Given the description of an element on the screen output the (x, y) to click on. 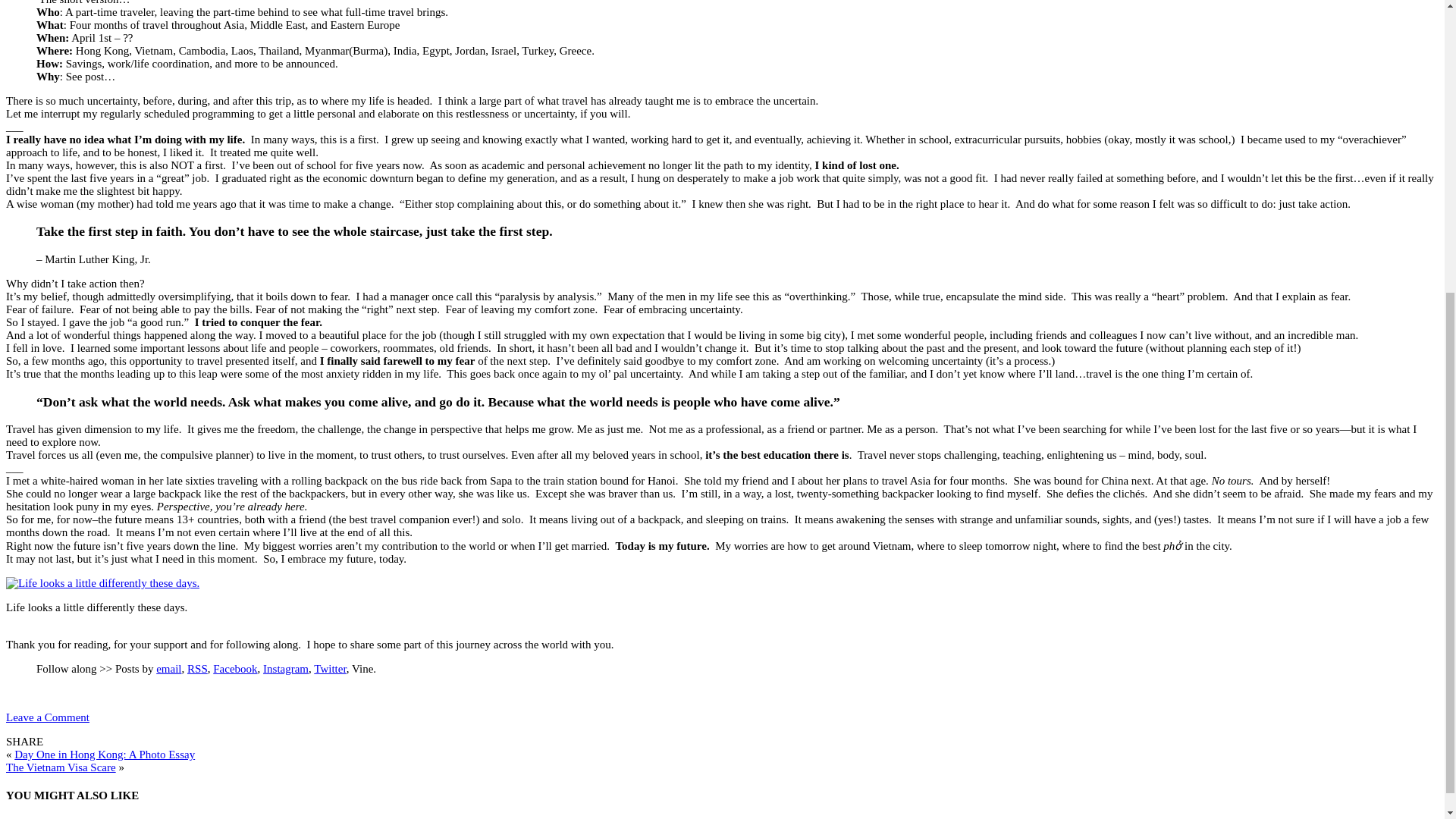
Leave a Comment (46, 717)
Day One in Hong Kong: A Photo Essay (104, 754)
Facebook (234, 668)
Twitter (330, 668)
email (167, 668)
The Vietnam Visa Scare (60, 767)
RSS (197, 668)
Instagram (285, 668)
